Given the description of an element on the screen output the (x, y) to click on. 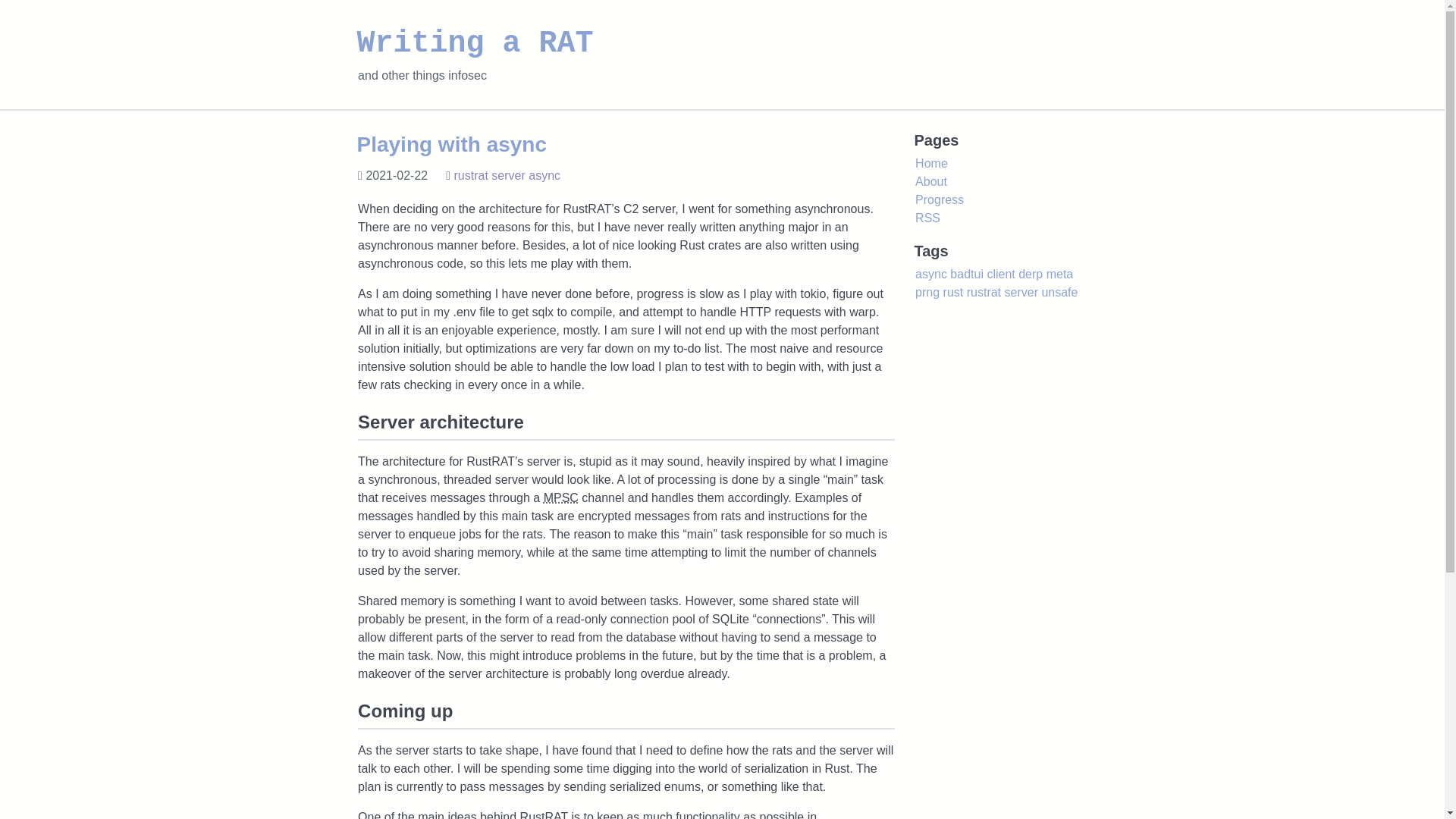
server (1020, 291)
rustrat (470, 176)
badtui (967, 273)
Writing a RAT (474, 43)
async (931, 273)
RSS (927, 217)
Multi-Producer, Single Consumer (560, 497)
Home (931, 163)
async (544, 176)
prng (927, 291)
